Given the description of an element on the screen output the (x, y) to click on. 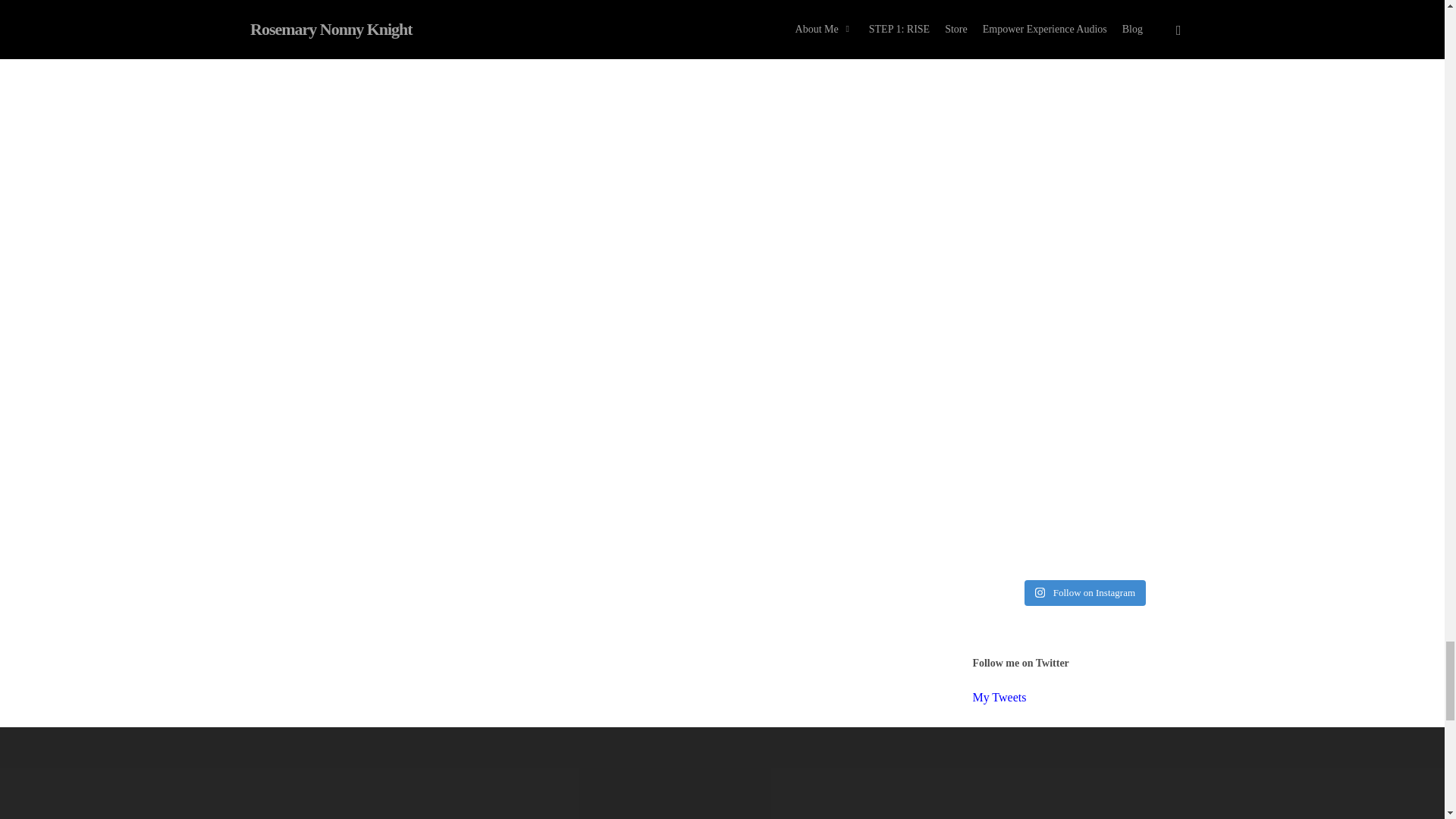
My Tweets (999, 697)
Follow on Instagram (1085, 592)
